Given the description of an element on the screen output the (x, y) to click on. 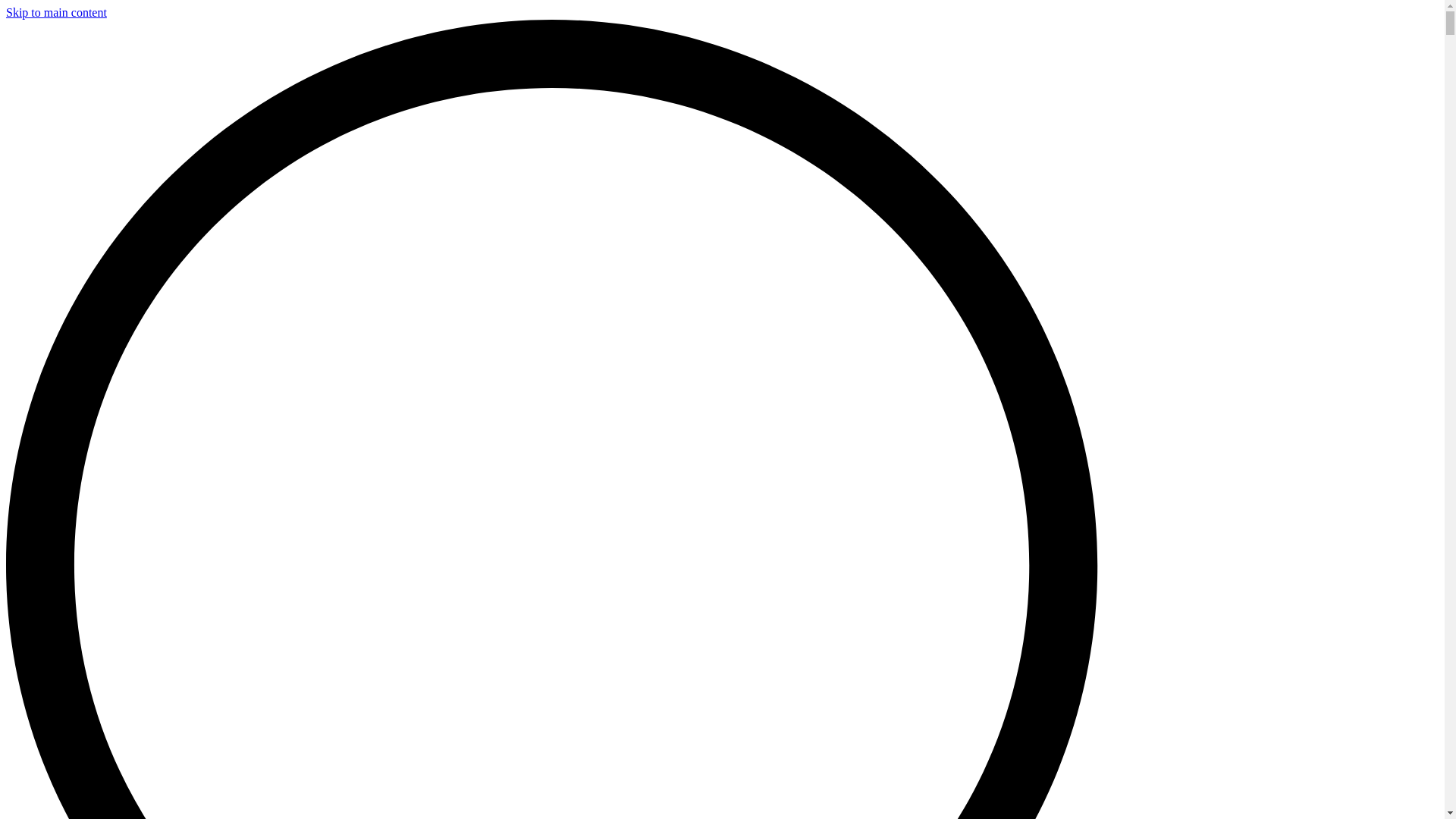
Skip to main content (55, 11)
